Given the description of an element on the screen output the (x, y) to click on. 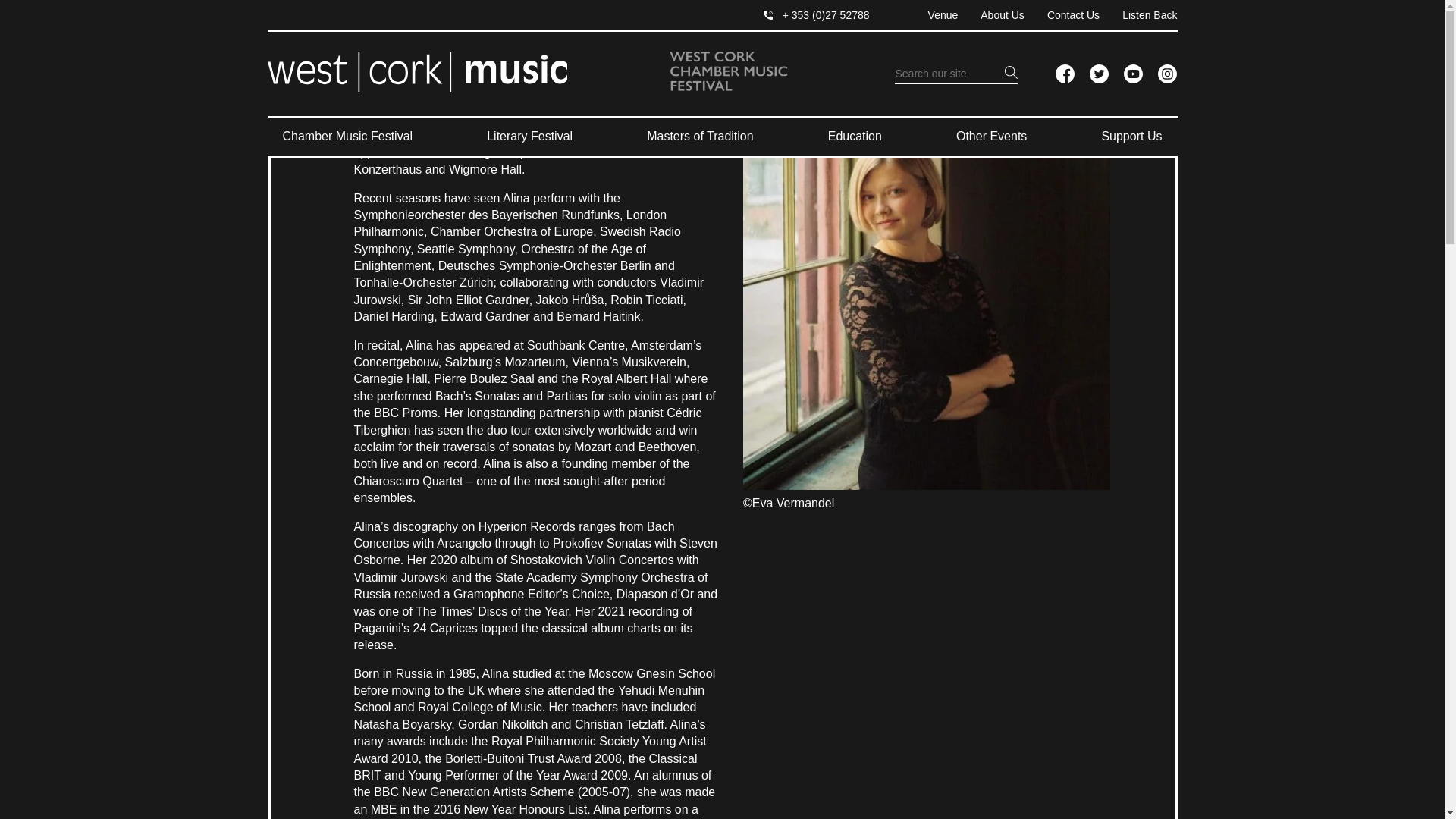
West Cork Music on facebook (1064, 73)
West Cork Music on instagram (1166, 73)
Phone number (815, 15)
West Cork Music on twitter (1098, 73)
Contact Us (1062, 15)
Festival logo (728, 71)
Listen Back (1137, 15)
West Cork Music (416, 73)
West Cork Music on youtube (1133, 73)
Literary Festival (529, 136)
West Cork Music (416, 71)
Chamber Music Festival (347, 136)
Venue (931, 15)
About Us (991, 15)
